Given the description of an element on the screen output the (x, y) to click on. 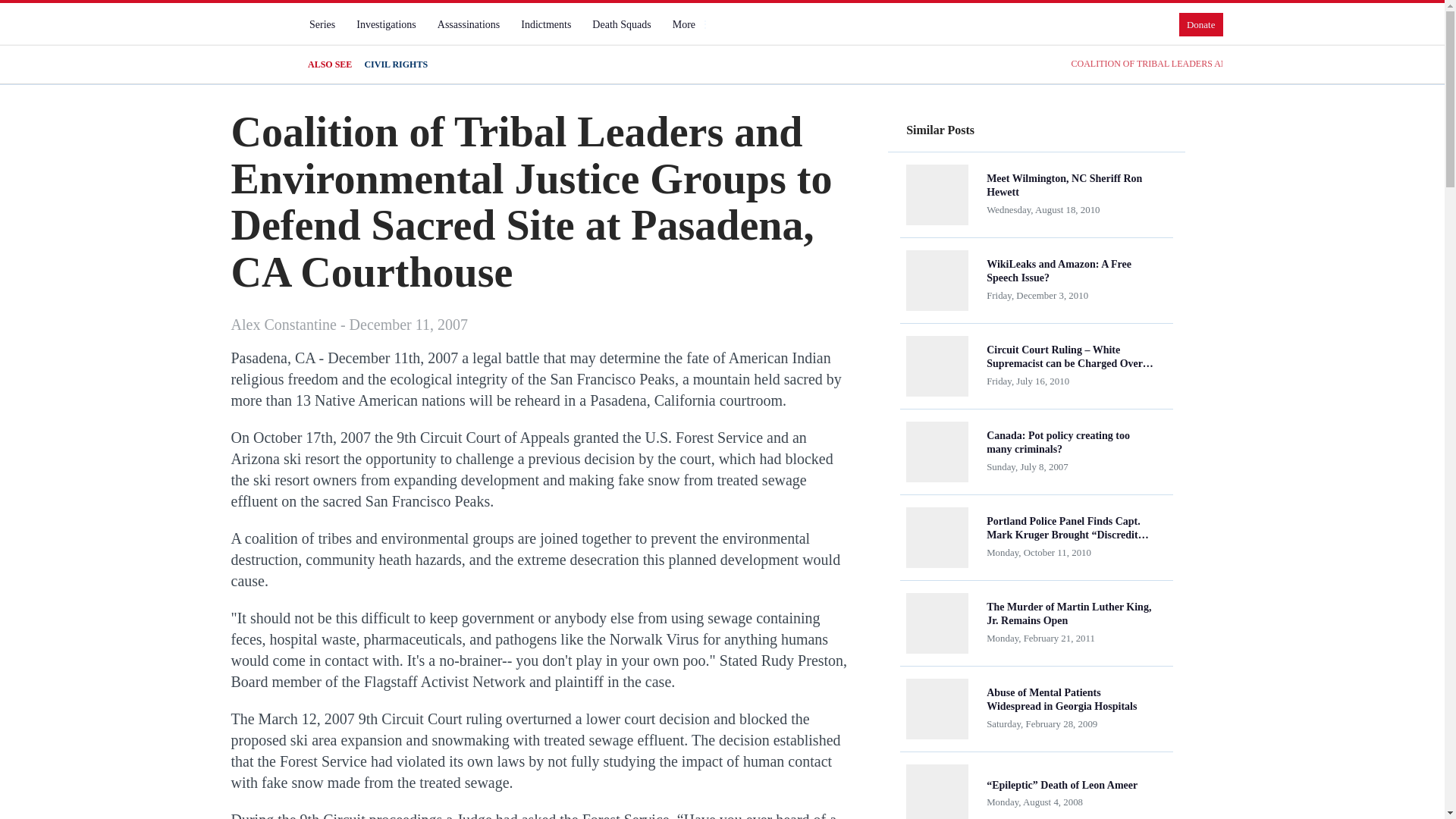
Donate (1201, 24)
CIVIL RIGHTS (396, 64)
Death Squads (621, 23)
Constantine Report (257, 37)
More (690, 24)
Assassinations (467, 23)
Indictments (545, 23)
Investigations (386, 23)
Series (321, 23)
